Given the description of an element on the screen output the (x, y) to click on. 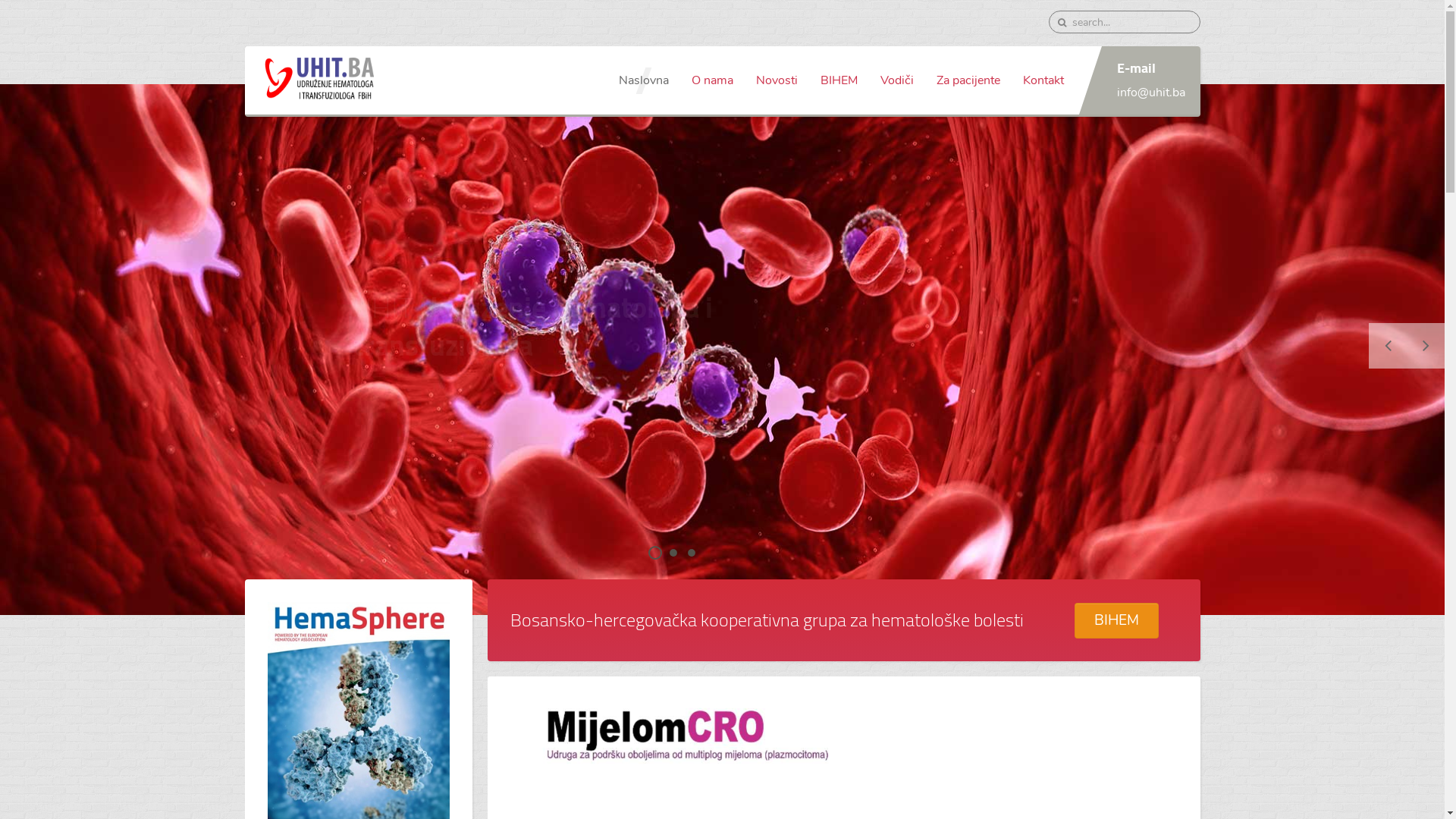
UHIT Element type: text (656, 554)
BIHEM Element type: text (838, 80)
Za pacijente Element type: text (968, 80)
Kontakt Element type: text (1043, 80)
O nama Element type: text (711, 80)
BIHEM Element type: text (1116, 619)
Novosti Element type: text (776, 80)
info@uhit.ba Element type: text (1150, 92)
Naslovna Element type: text (642, 80)
